Given the description of an element on the screen output the (x, y) to click on. 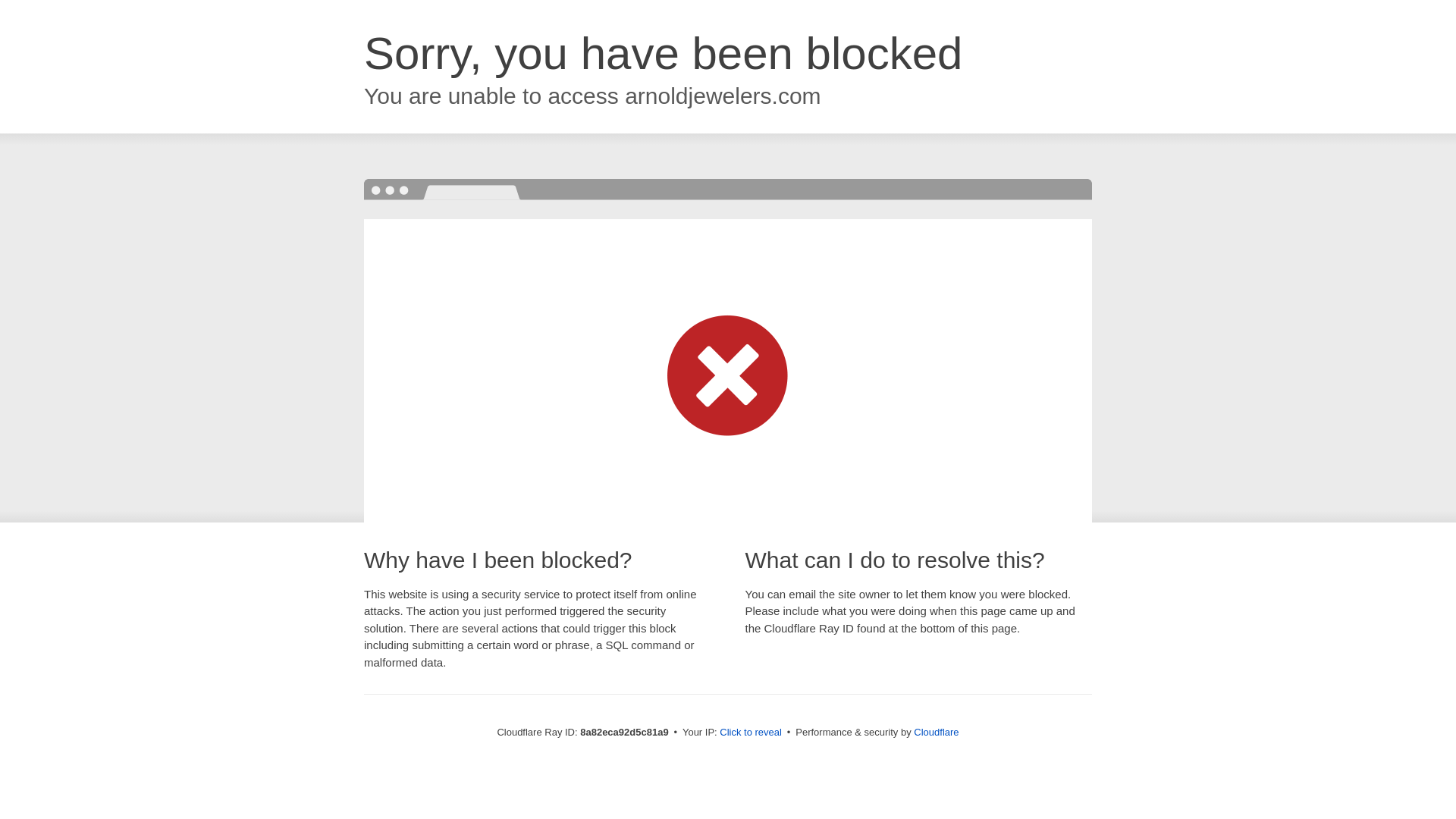
Cloudflare (936, 731)
Click to reveal (750, 732)
